Given the description of an element on the screen output the (x, y) to click on. 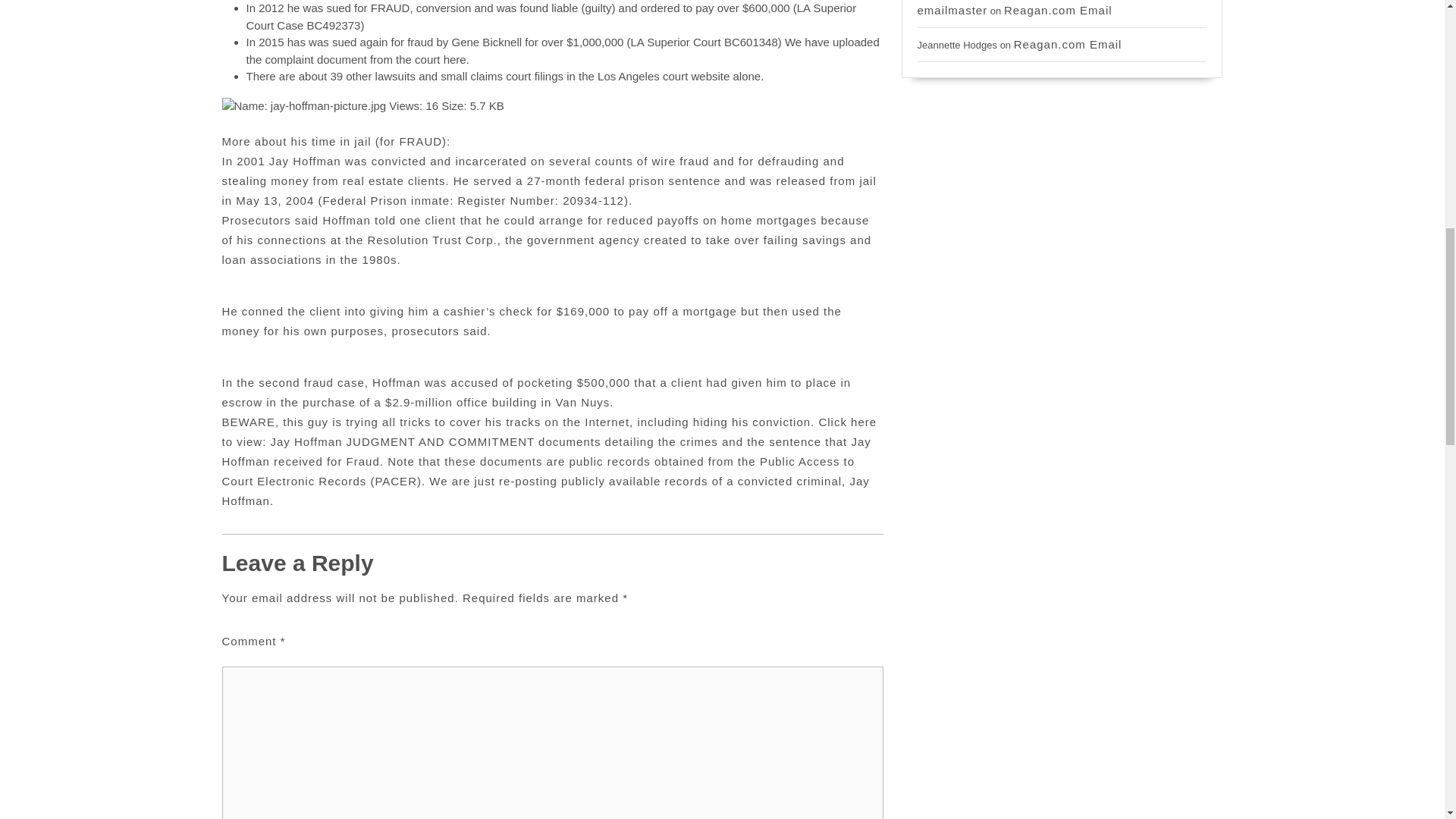
emailmaster (952, 10)
Reagan.com Email (1058, 10)
Name:  jay-hoffman-picture.jpg Views: 16 Size:  5.7 KB (362, 105)
Reagan.com Email (1067, 43)
